Given the description of an element on the screen output the (x, y) to click on. 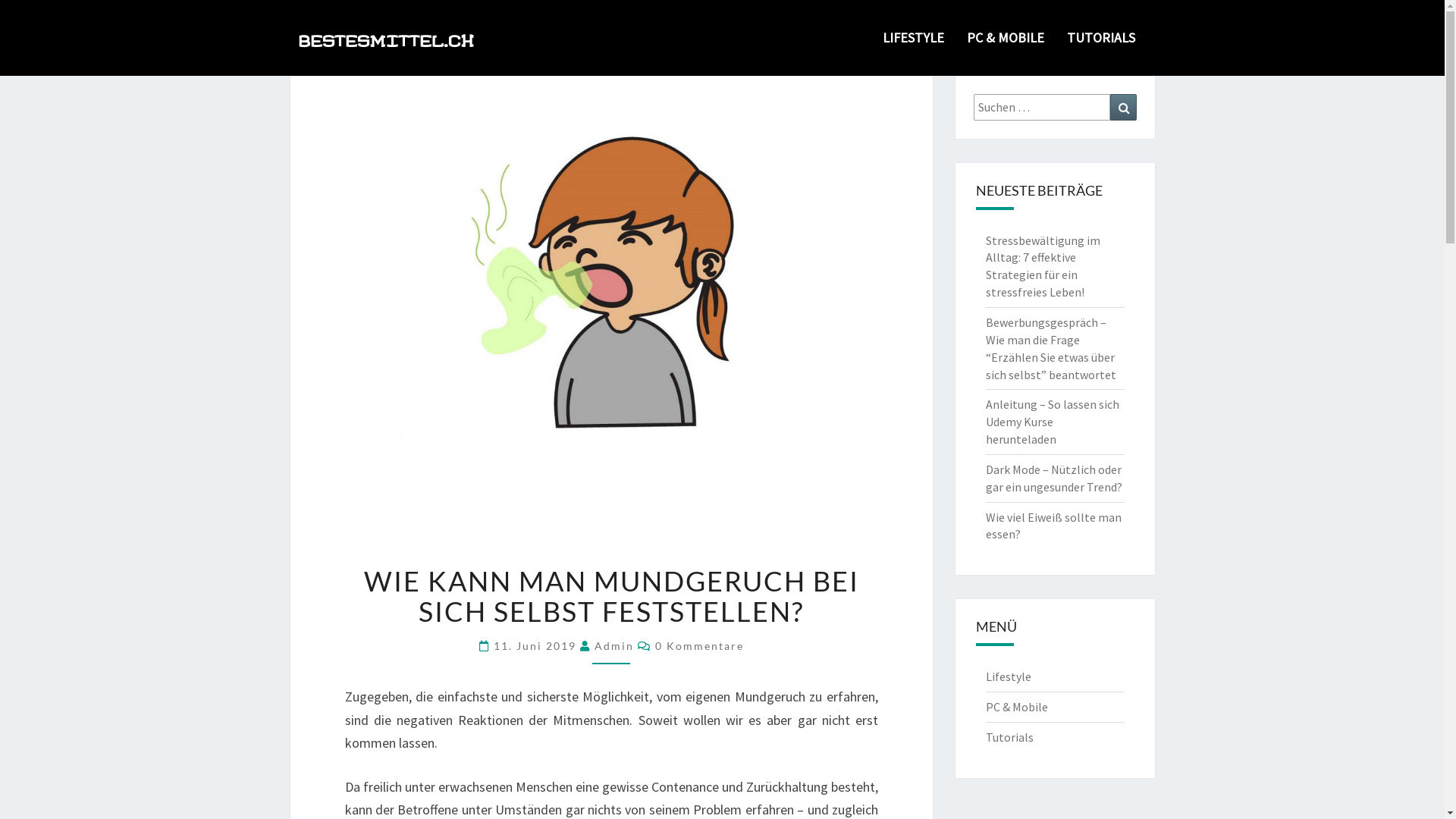
Suche nach: Element type: hover (1041, 107)
Lifestyle Element type: text (1008, 676)
PC & Mobile Element type: text (1016, 706)
Admin Element type: text (613, 645)
0 Kommentare Element type: text (699, 645)
Tutorials Element type: text (1009, 736)
TUTORIALS Element type: text (1100, 37)
LIFESTYLE Element type: text (913, 37)
PC & MOBILE Element type: text (1005, 37)
11. Juni 2019 Element type: text (536, 645)
